Given the description of an element on the screen output the (x, y) to click on. 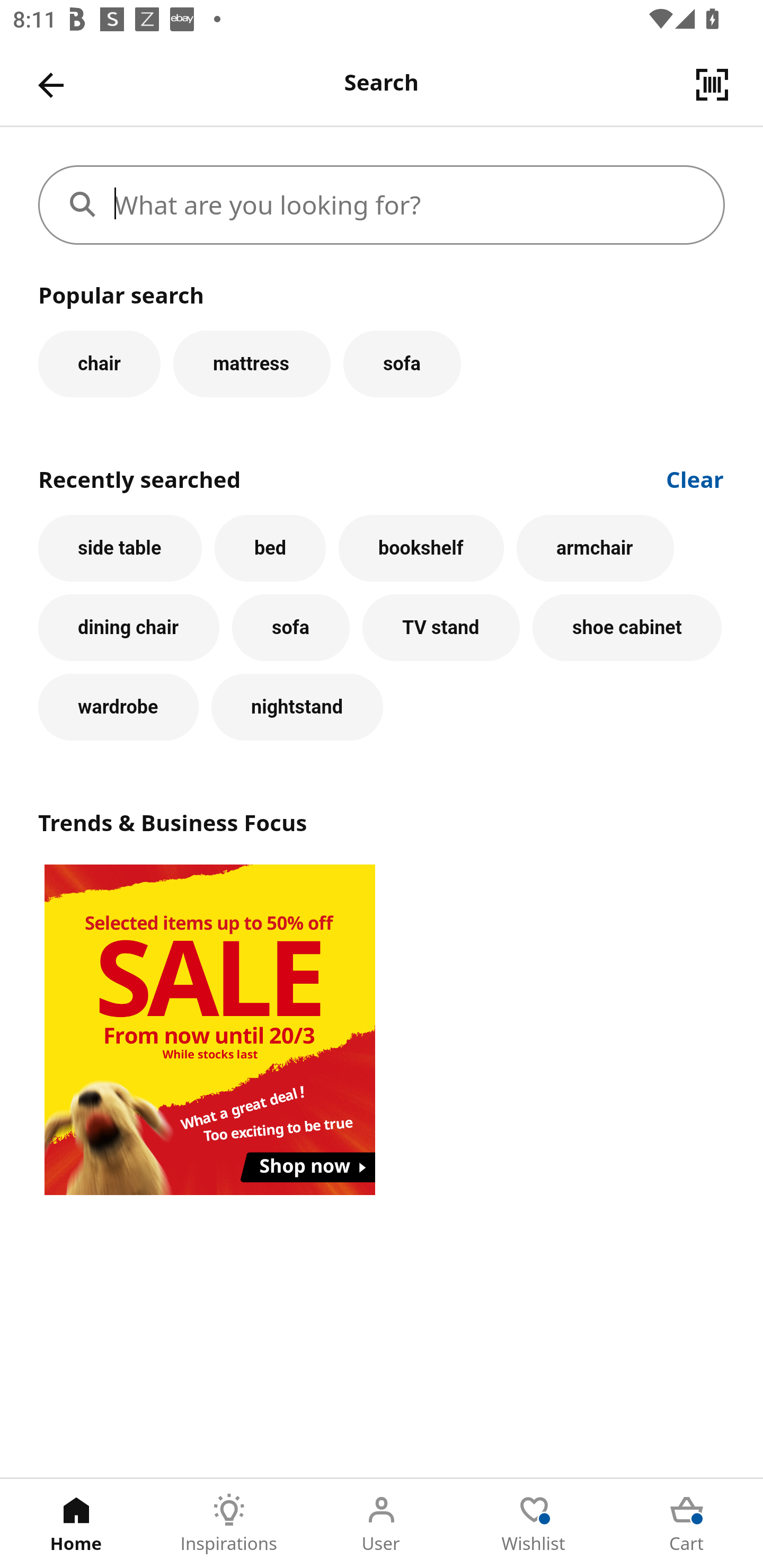
chair (99, 363)
mattress (251, 363)
sofa (401, 363)
Clear (695, 477)
side table (120, 547)
bed (269, 547)
bookshelf (420, 547)
armchair (594, 547)
dining chair (128, 627)
sofa (290, 627)
TV stand (440, 627)
shoe cabinet (626, 627)
wardrobe (118, 707)
nightstand (297, 707)
Home
Tab 1 of 5 (76, 1522)
Inspirations
Tab 2 of 5 (228, 1522)
User
Tab 3 of 5 (381, 1522)
Wishlist
Tab 4 of 5 (533, 1522)
Cart
Tab 5 of 5 (686, 1522)
